Given the description of an element on the screen output the (x, y) to click on. 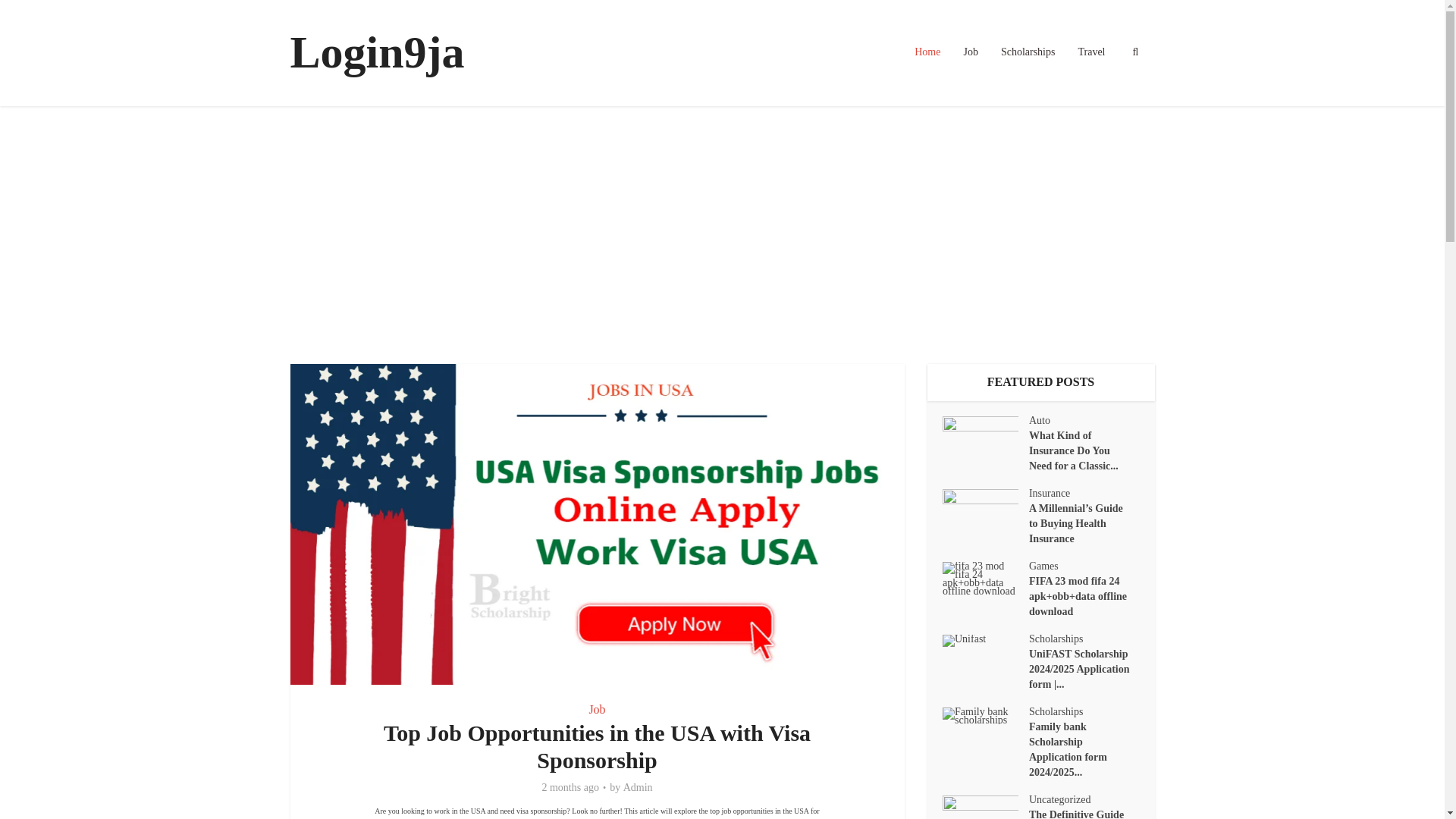
Admin (637, 787)
Top Job Opportunities in the USA with Visa Sponsorship (597, 746)
Job (596, 708)
Advertisement (721, 234)
Top Job Opportunities in the USA with Visa Sponsorship (597, 746)
Login9ja (376, 52)
